Given the description of an element on the screen output the (x, y) to click on. 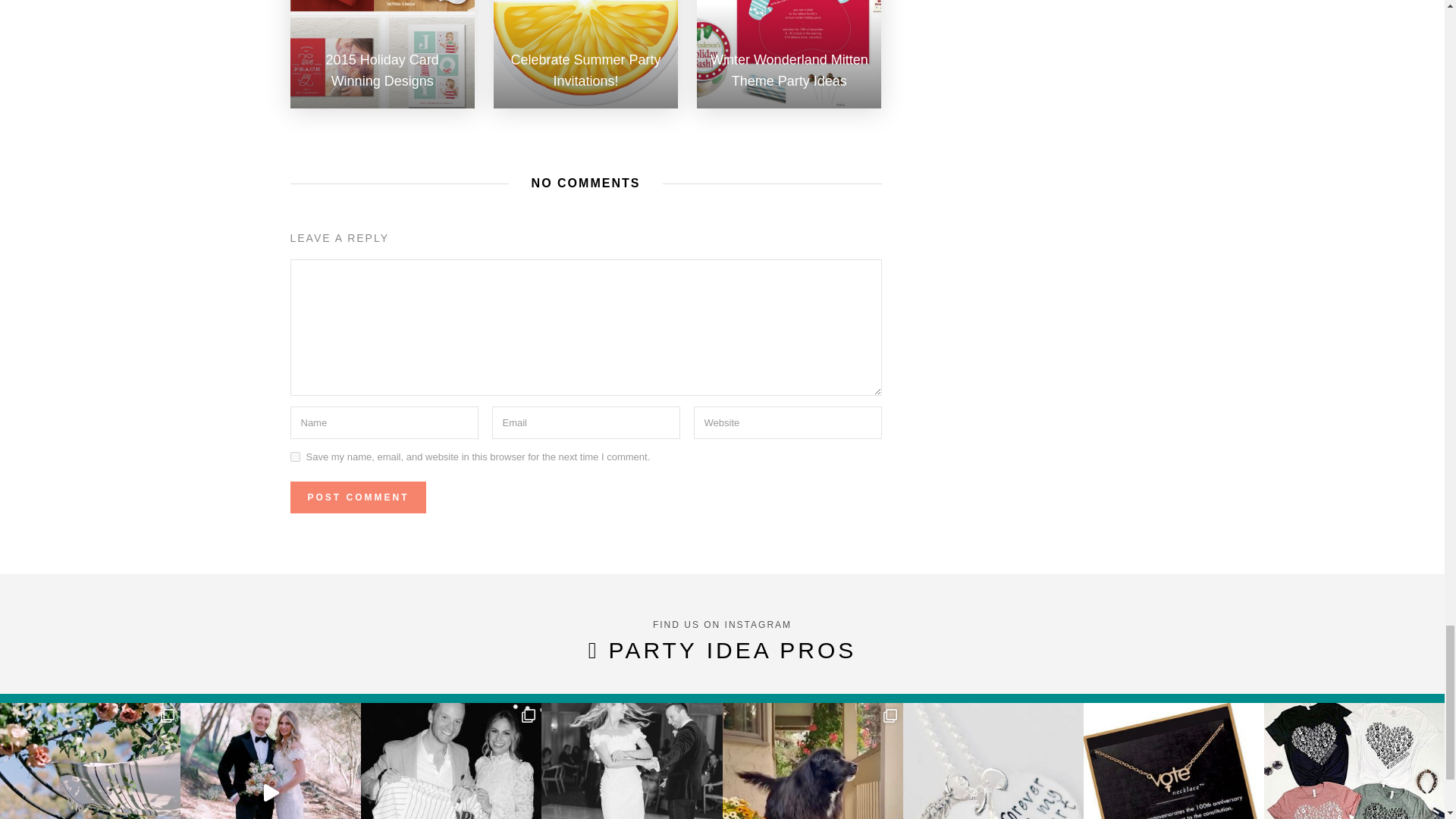
Post Comment (357, 497)
yes (294, 456)
